Given the description of an element on the screen output the (x, y) to click on. 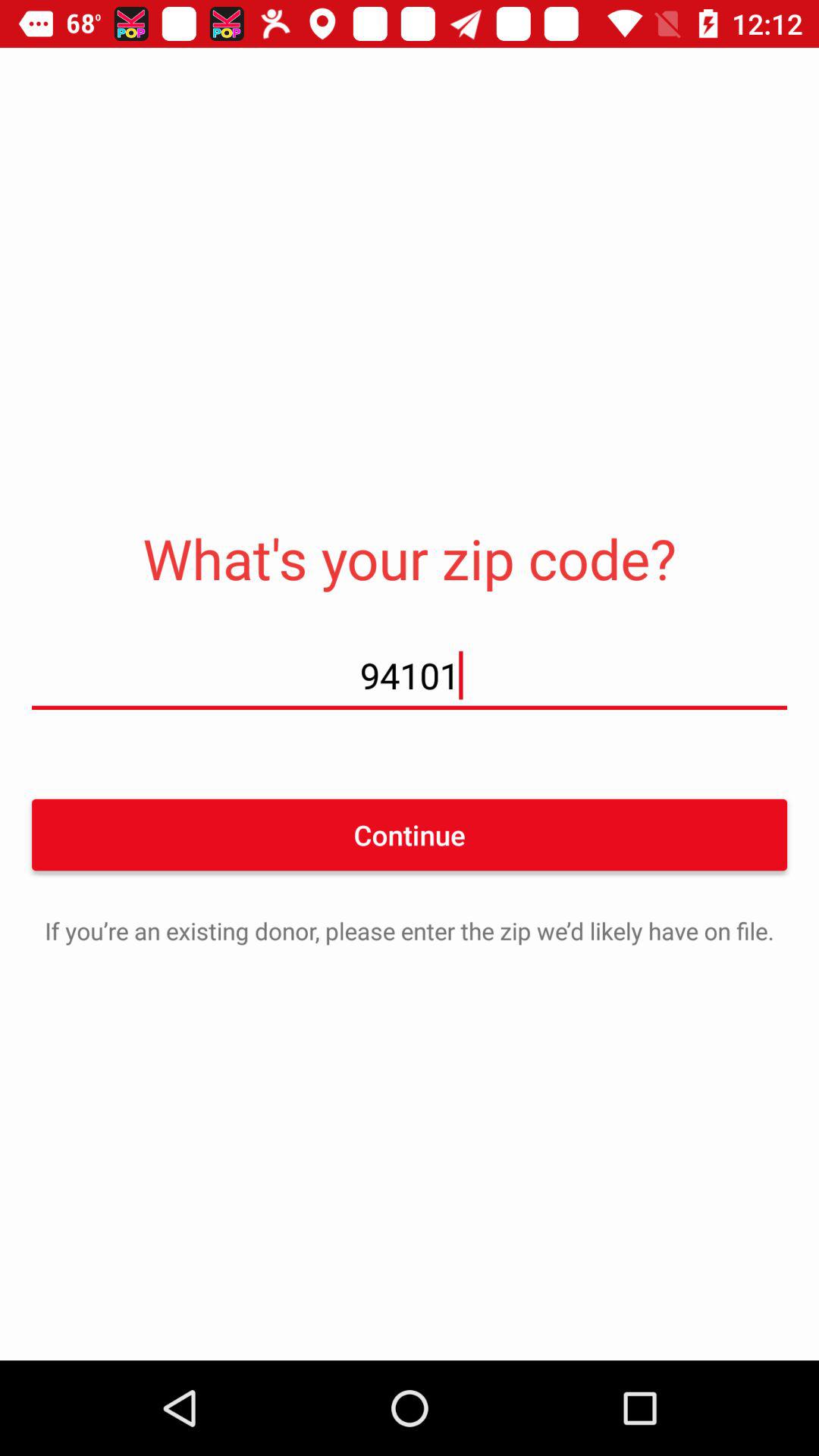
choose 94101 icon (409, 675)
